Given the description of an element on the screen output the (x, y) to click on. 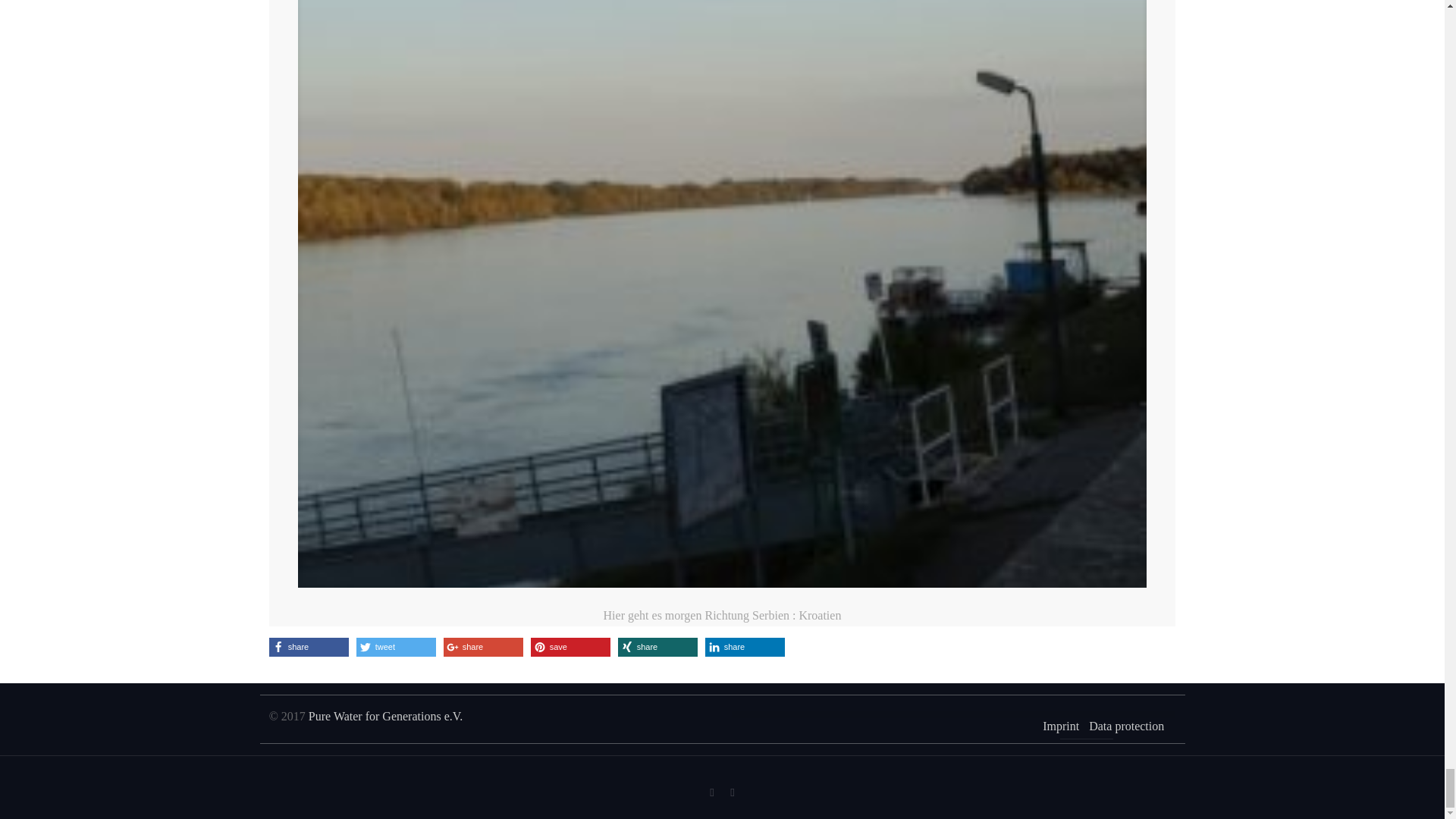
Share on XING (657, 647)
Facebook (711, 792)
tweet  (395, 647)
Share on Twitter (395, 647)
Instagram (731, 792)
Pin it on Pinterest (570, 647)
Share on LinkedIn (744, 647)
share  (309, 647)
share  (657, 647)
save  (570, 647)
Share on Facebook (309, 647)
share  (483, 647)
